Given the description of an element on the screen output the (x, y) to click on. 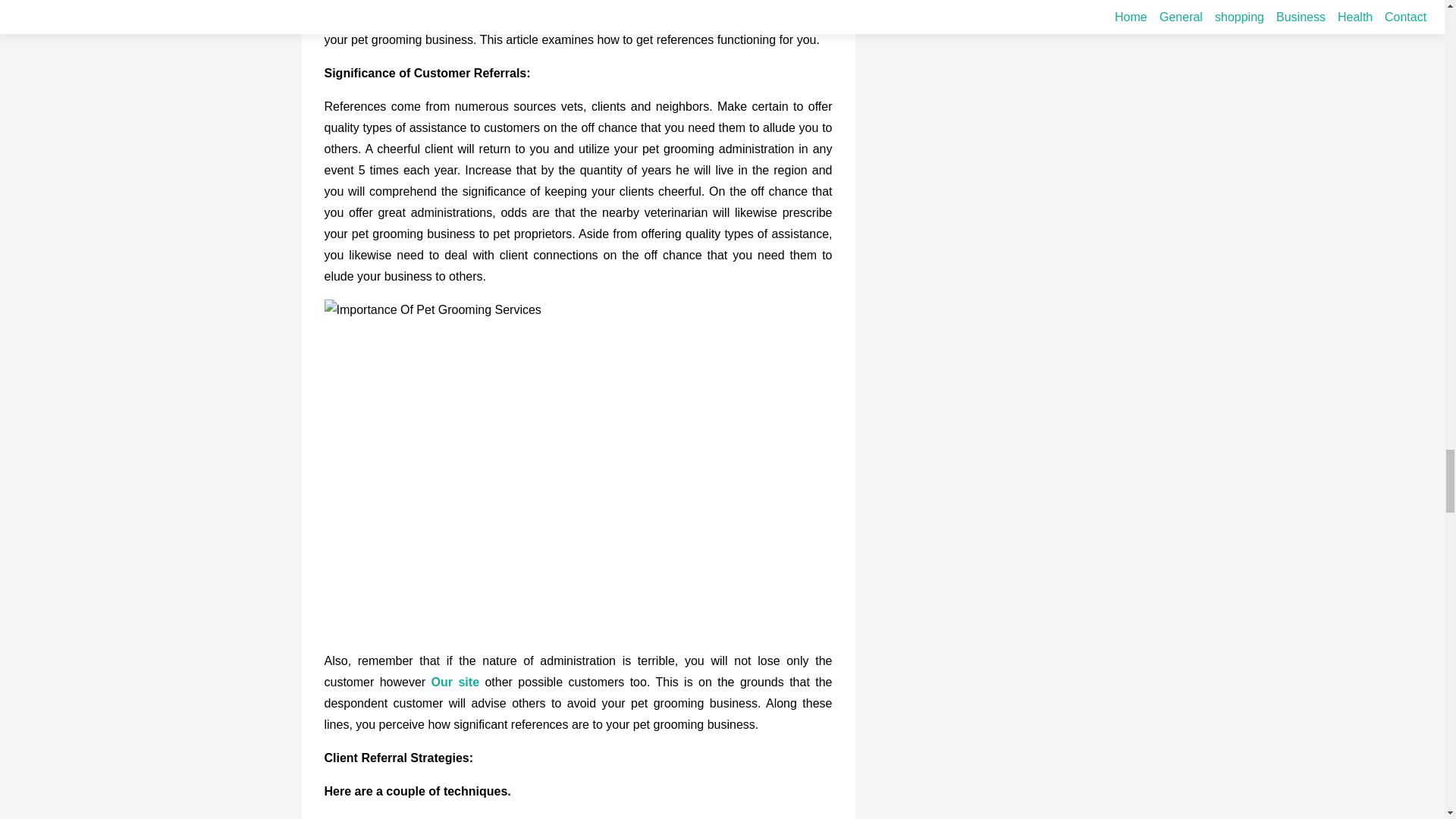
Our site (454, 681)
